Given the description of an element on the screen output the (x, y) to click on. 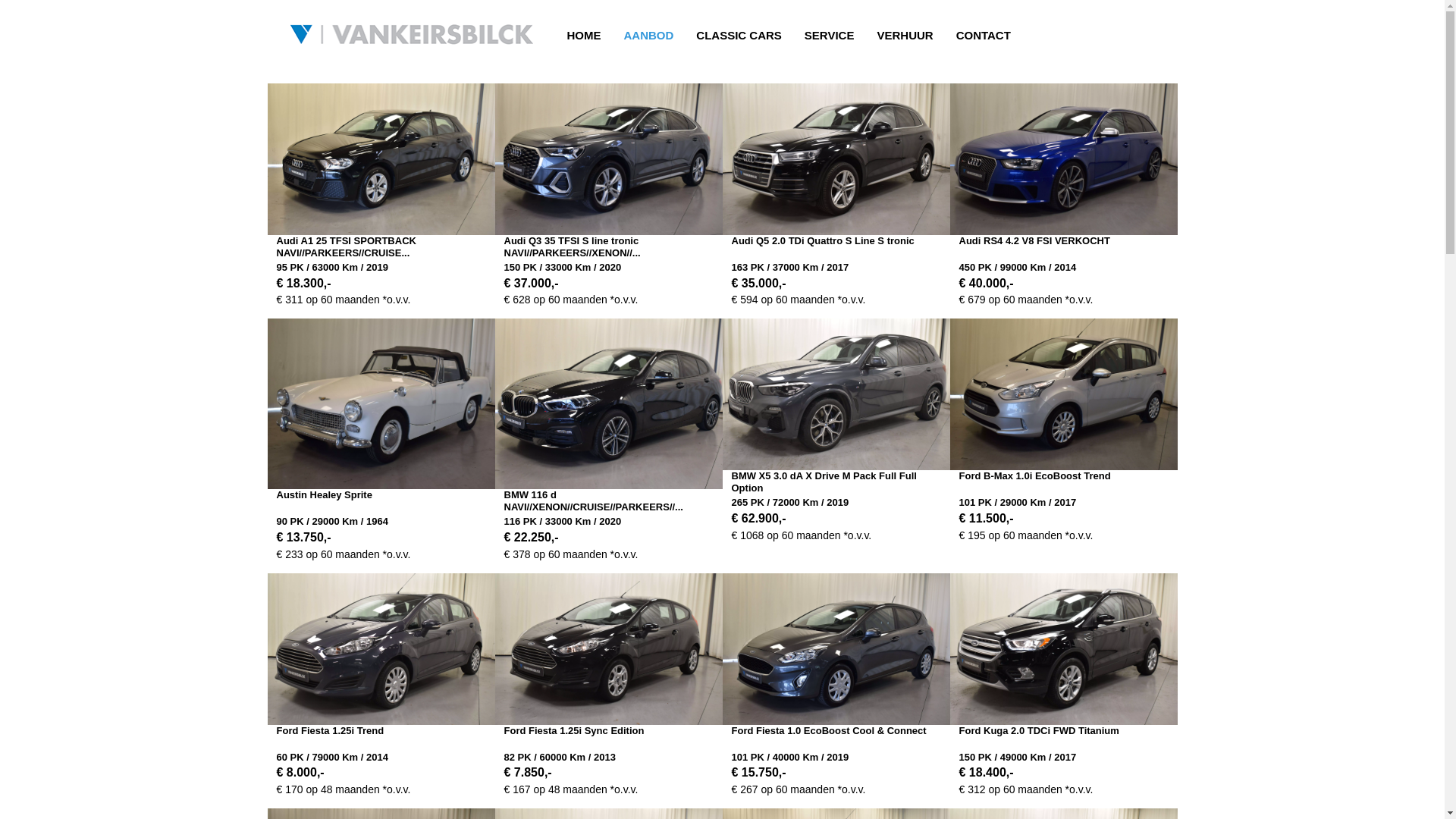
CONTACT Element type: text (983, 35)
CLASSIC CARS Element type: text (738, 35)
SERVICE Element type: text (829, 35)
HOME Element type: text (583, 35)
VERHUUR Element type: text (904, 35)
AANBOD Element type: text (648, 35)
